Given the description of an element on the screen output the (x, y) to click on. 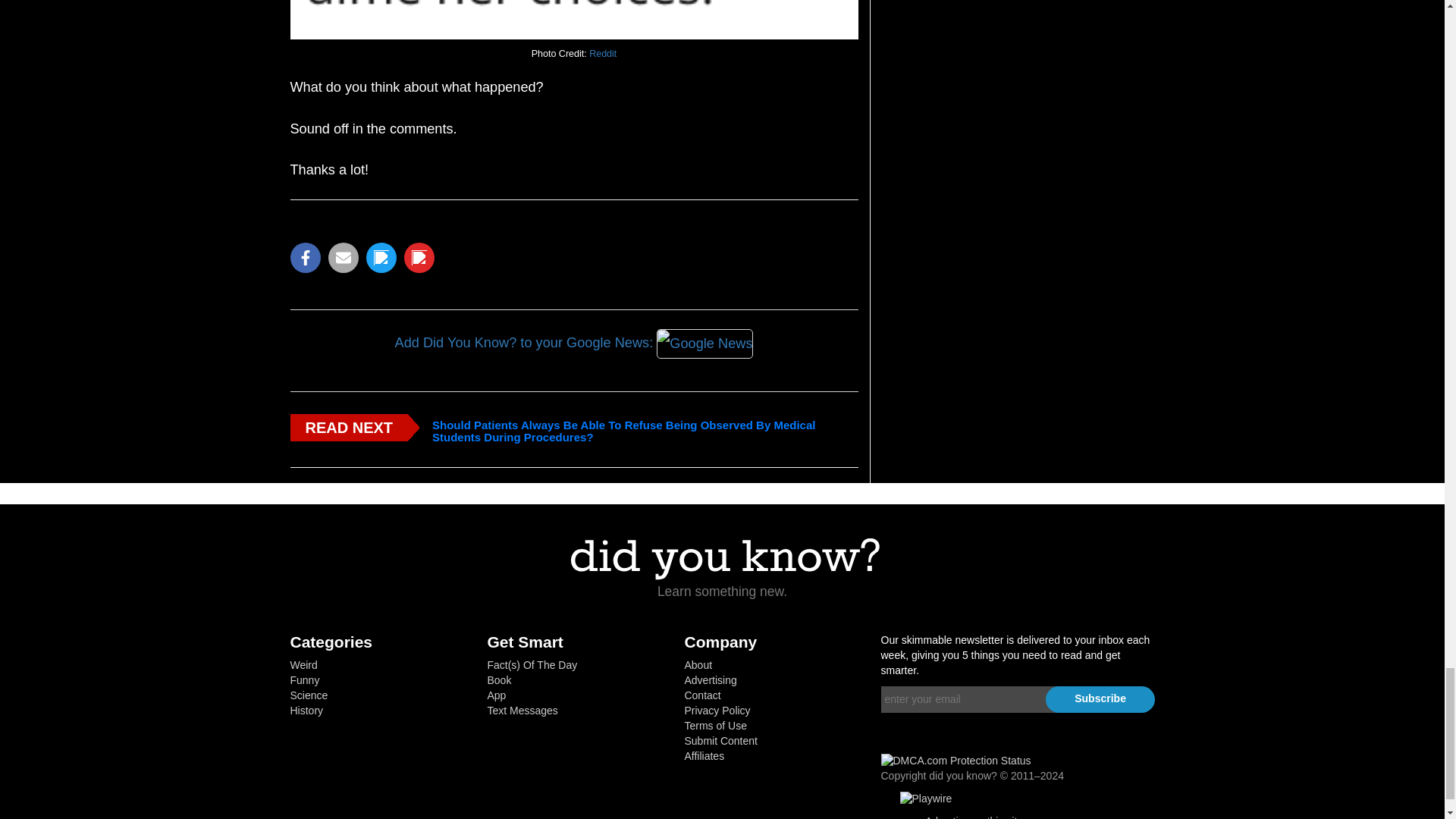
Subscribe (1100, 696)
READ NEXT (348, 424)
Add Did You Know? to your Google News: (573, 342)
Reddit (602, 53)
Google News (705, 342)
